Given the description of an element on the screen output the (x, y) to click on. 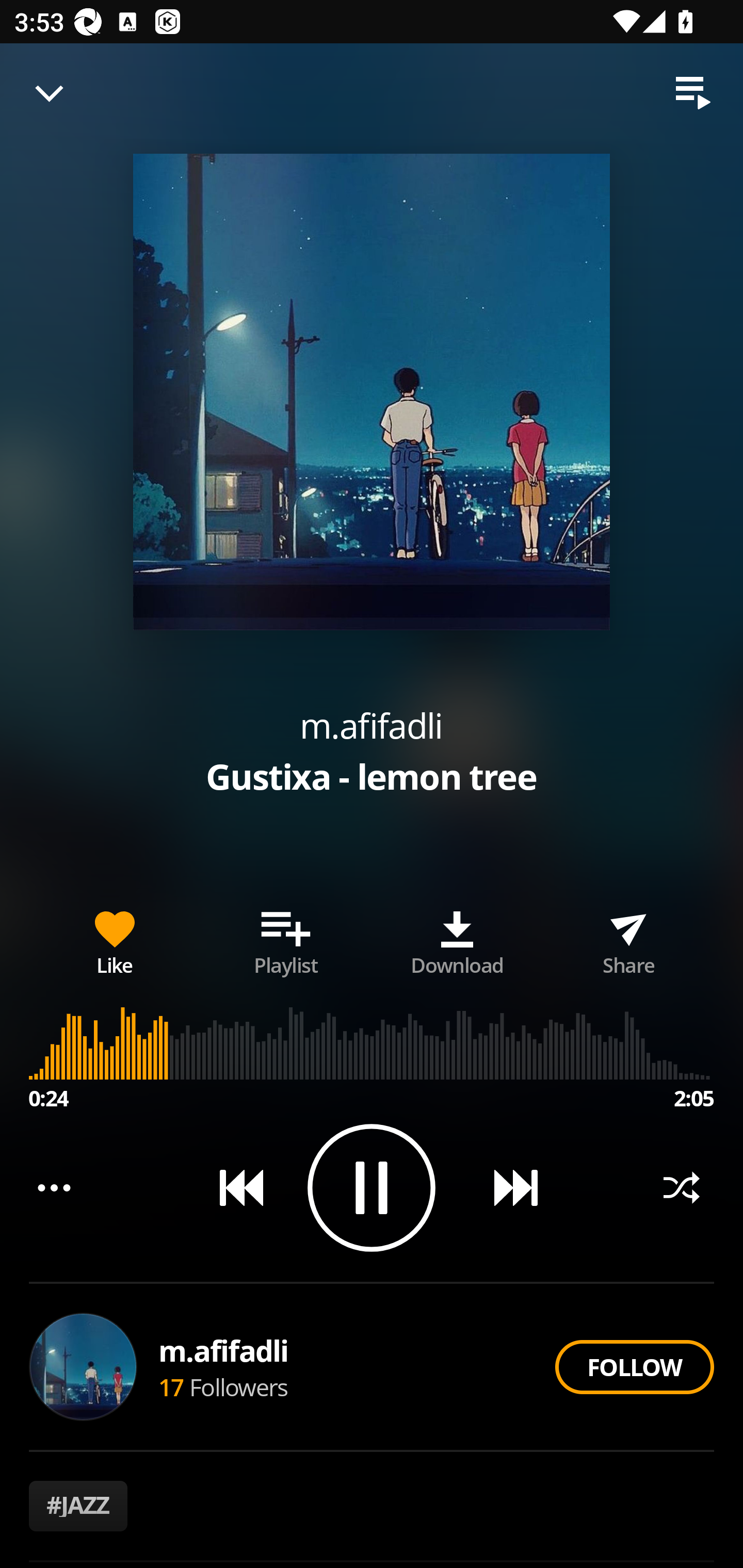
Minimise player (49, 93)
Queue (693, 93)
Album art (371, 391)
m.afifadli (370, 724)
Like (113, 939)
Add song to playlist Playlist (285, 939)
Download (457, 939)
Share (628, 939)
Play/Pause (371, 1187)
Previous song (233, 1187)
Next song (508, 1187)
m.afifadli (224, 1350)
FOLLOW Follow (634, 1366)
17 (171, 1386)
#JAZZ (77, 1505)
